Given the description of an element on the screen output the (x, y) to click on. 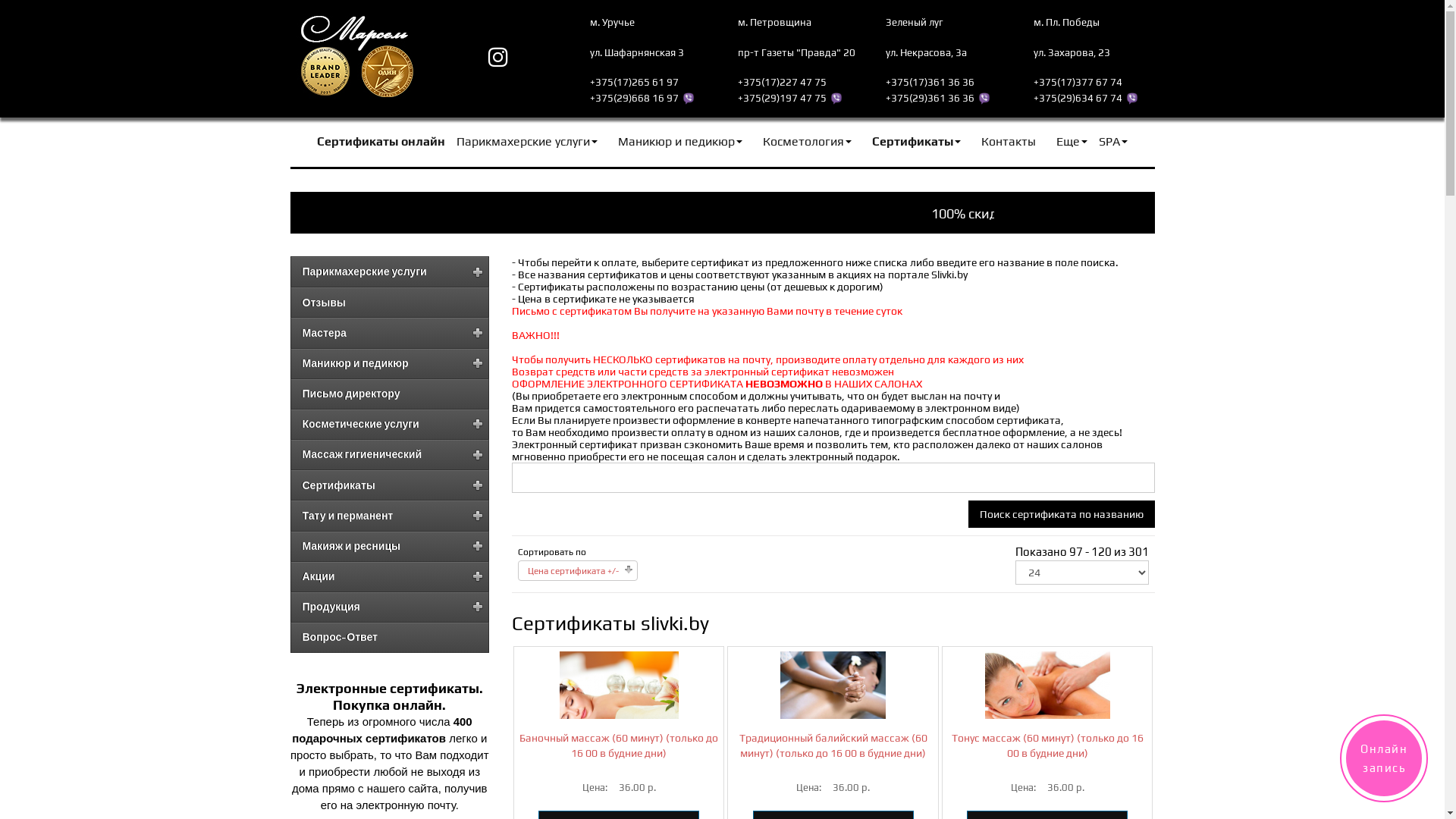
SPA Element type: text (1112, 143)
